Given the description of an element on the screen output the (x, y) to click on. 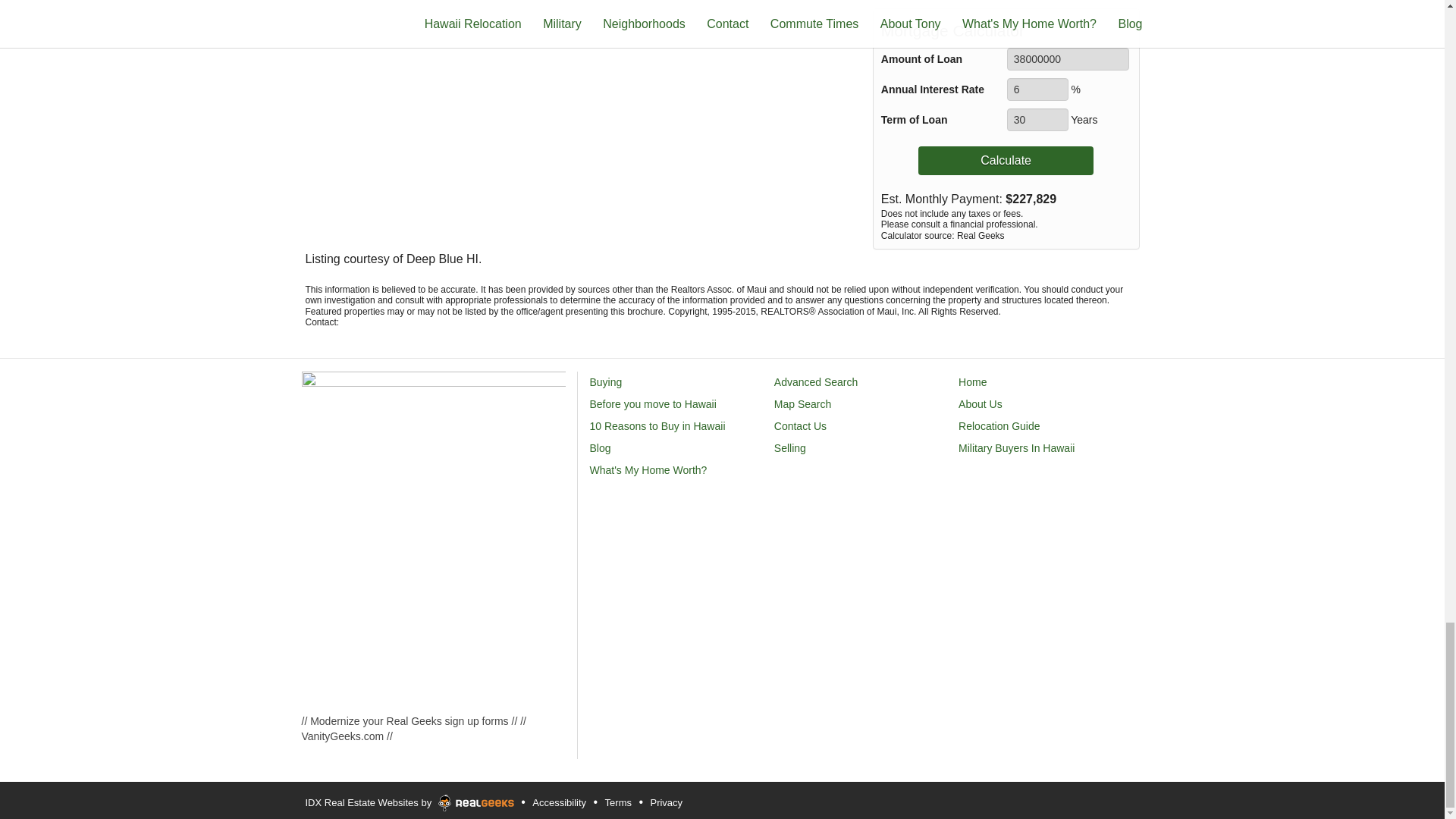
30 (1037, 119)
6 (1037, 88)
38000000 (1068, 58)
